Given the description of an element on the screen output the (x, y) to click on. 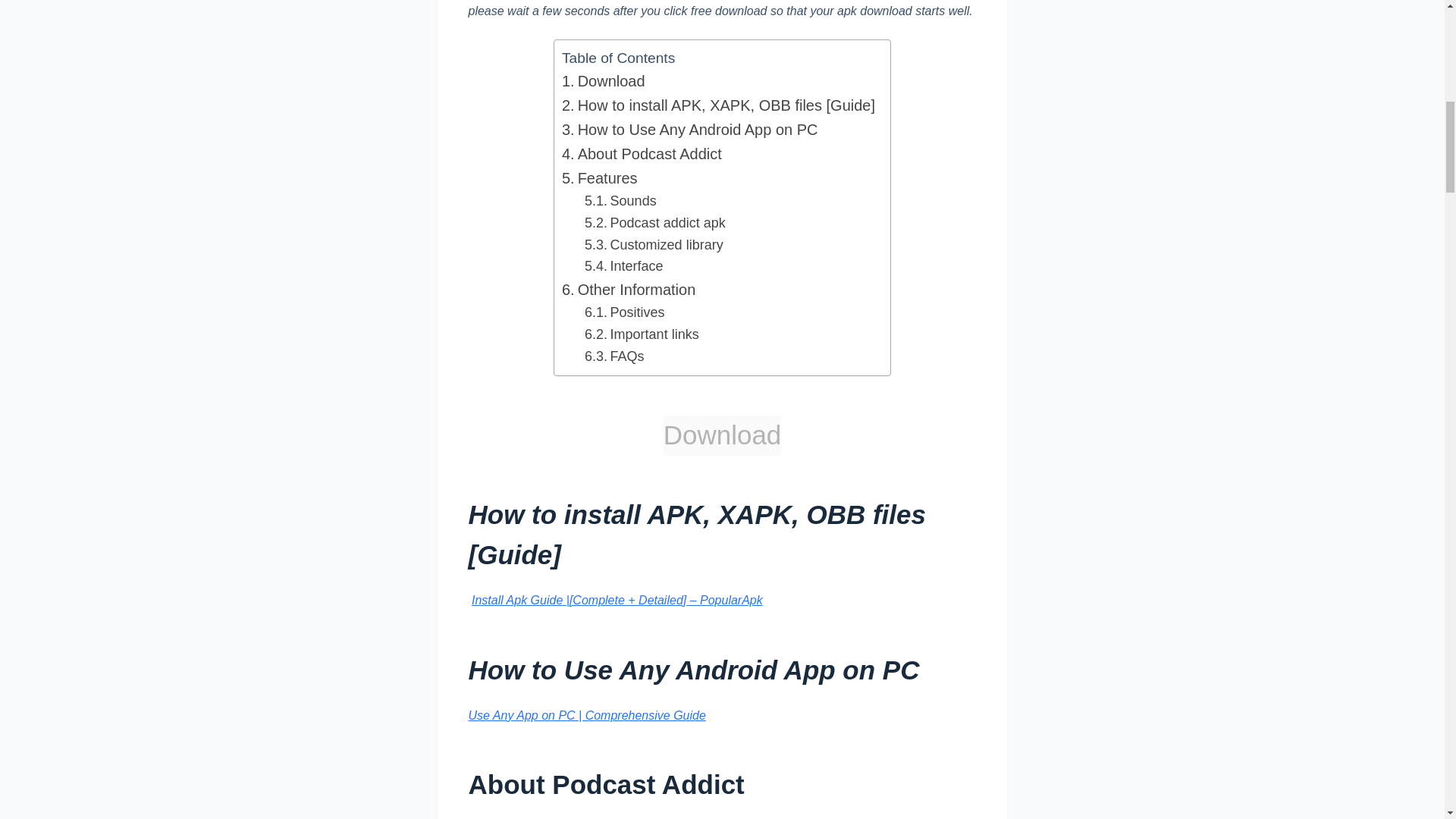
Download (603, 80)
Positives (625, 312)
Podcast addict apk (655, 223)
Podcast addict apk (655, 223)
About Podcast Addict (642, 153)
Sounds (620, 201)
Features (599, 178)
How to Use Any Android App on PC (690, 129)
Other Information (628, 289)
Sounds (620, 201)
Important links (641, 334)
Positives (625, 312)
Interface (624, 266)
Features (599, 178)
Download (603, 80)
